Given the description of an element on the screen output the (x, y) to click on. 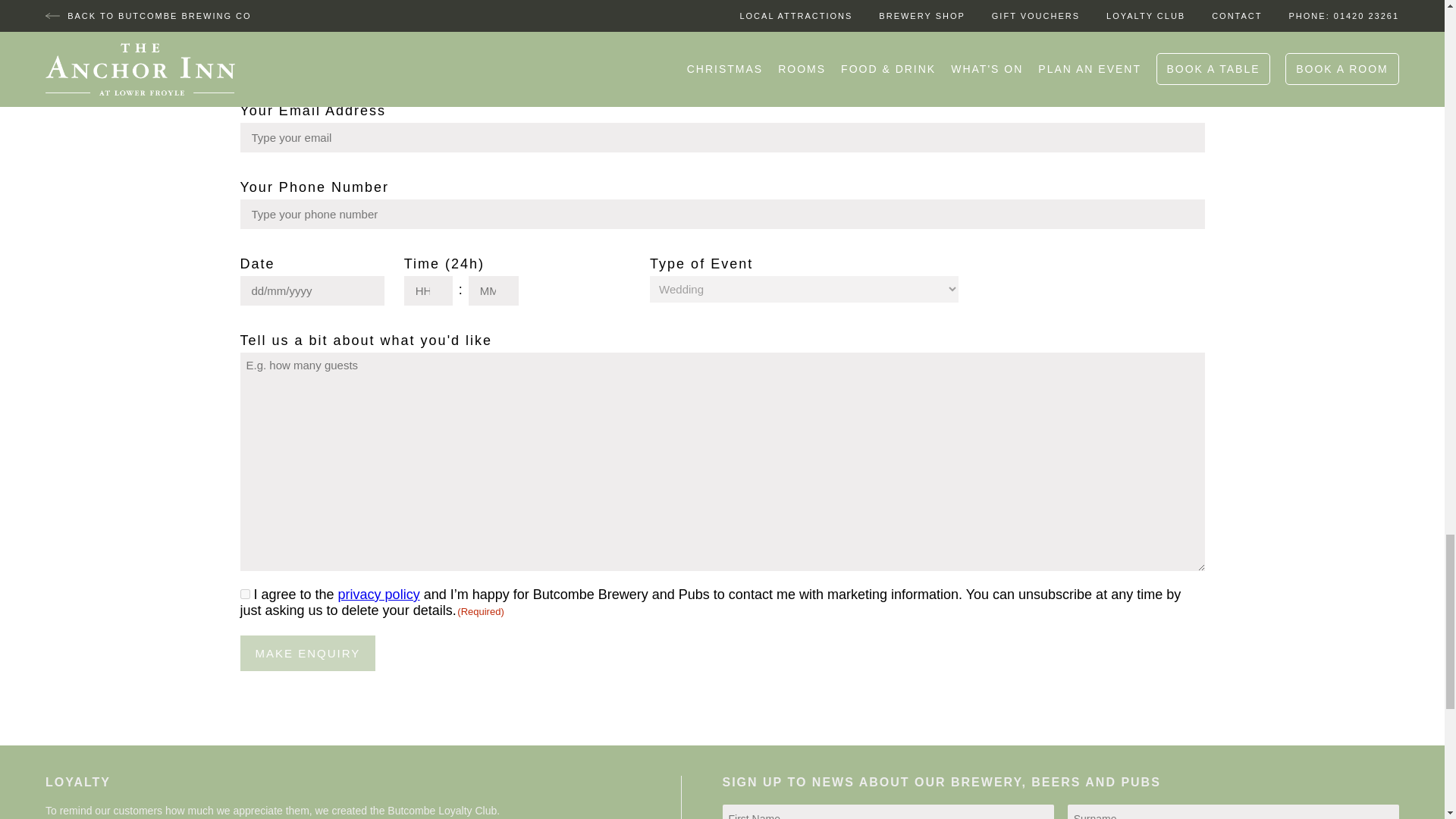
Make enquiry (307, 652)
1 (244, 593)
Make enquiry (307, 652)
privacy policy (378, 594)
